Given the description of an element on the screen output the (x, y) to click on. 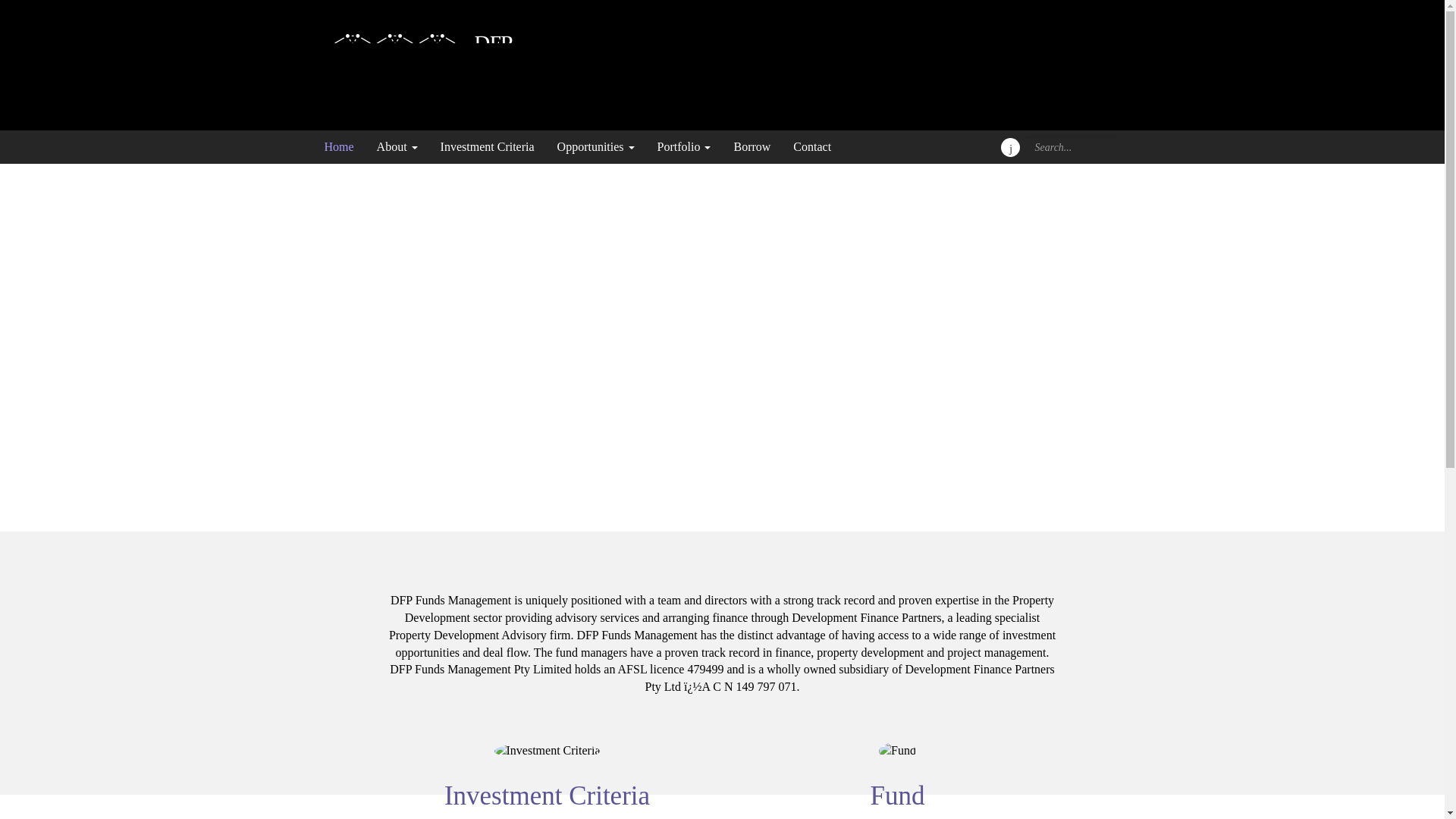
j (1010, 147)
About (397, 146)
Opportunities (596, 146)
Contact (806, 146)
Borrow (751, 146)
Home (344, 146)
Portfolio (684, 146)
Investment Criteria (487, 146)
REVIEW AFFORDABLE HOUSING OPPORTUNITIES (691, 428)
REQUEST INFORMATION MEMORANDUM (666, 390)
